Given the description of an element on the screen output the (x, y) to click on. 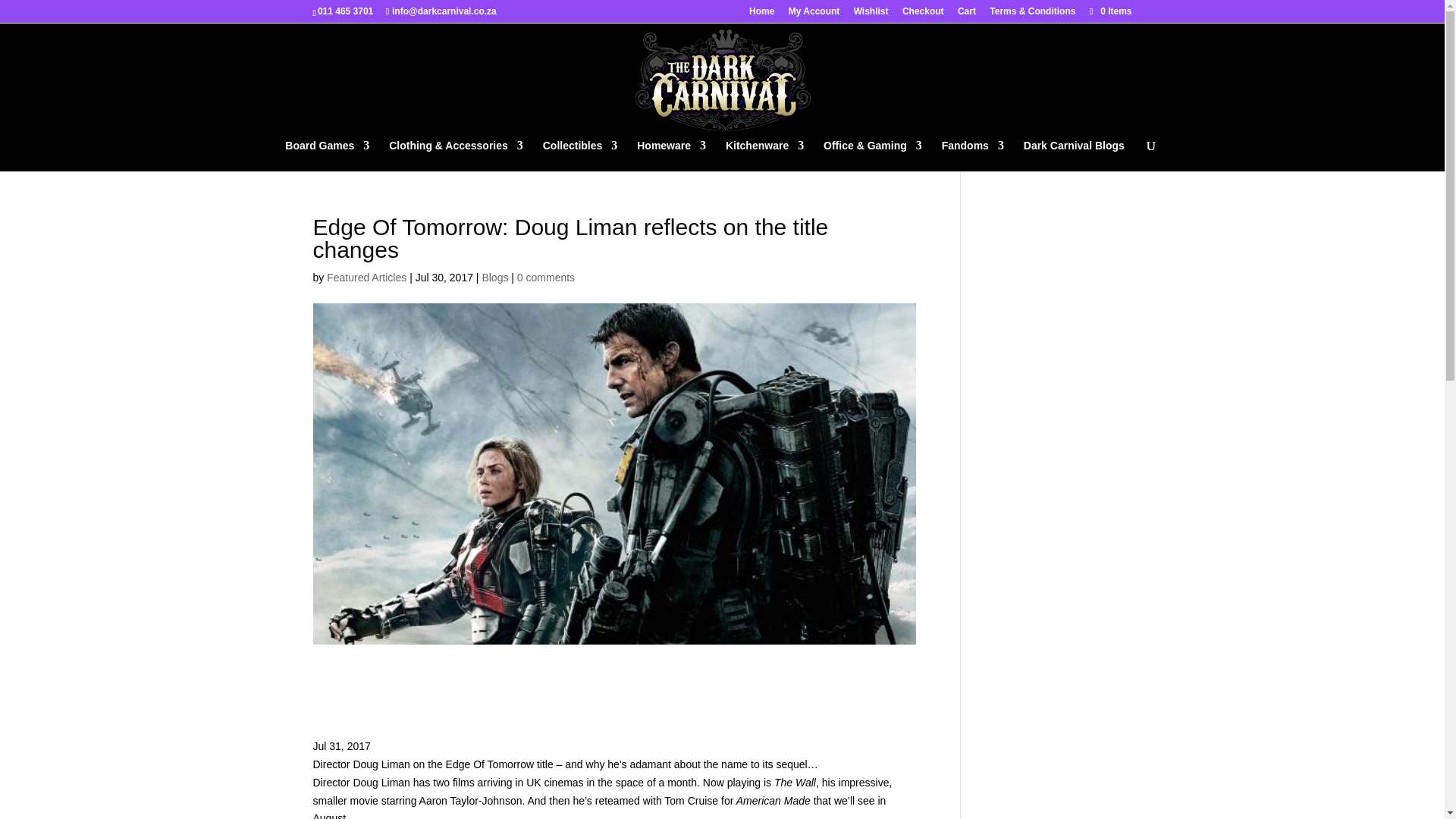
Checkout (922, 14)
Home (761, 14)
Board Games (327, 155)
Collectibles (580, 155)
Cart (966, 14)
Homeware (671, 155)
Wishlist (870, 14)
0 Items (1108, 10)
My Account (814, 14)
Posts by Featured Articles (366, 277)
